Given the description of an element on the screen output the (x, y) to click on. 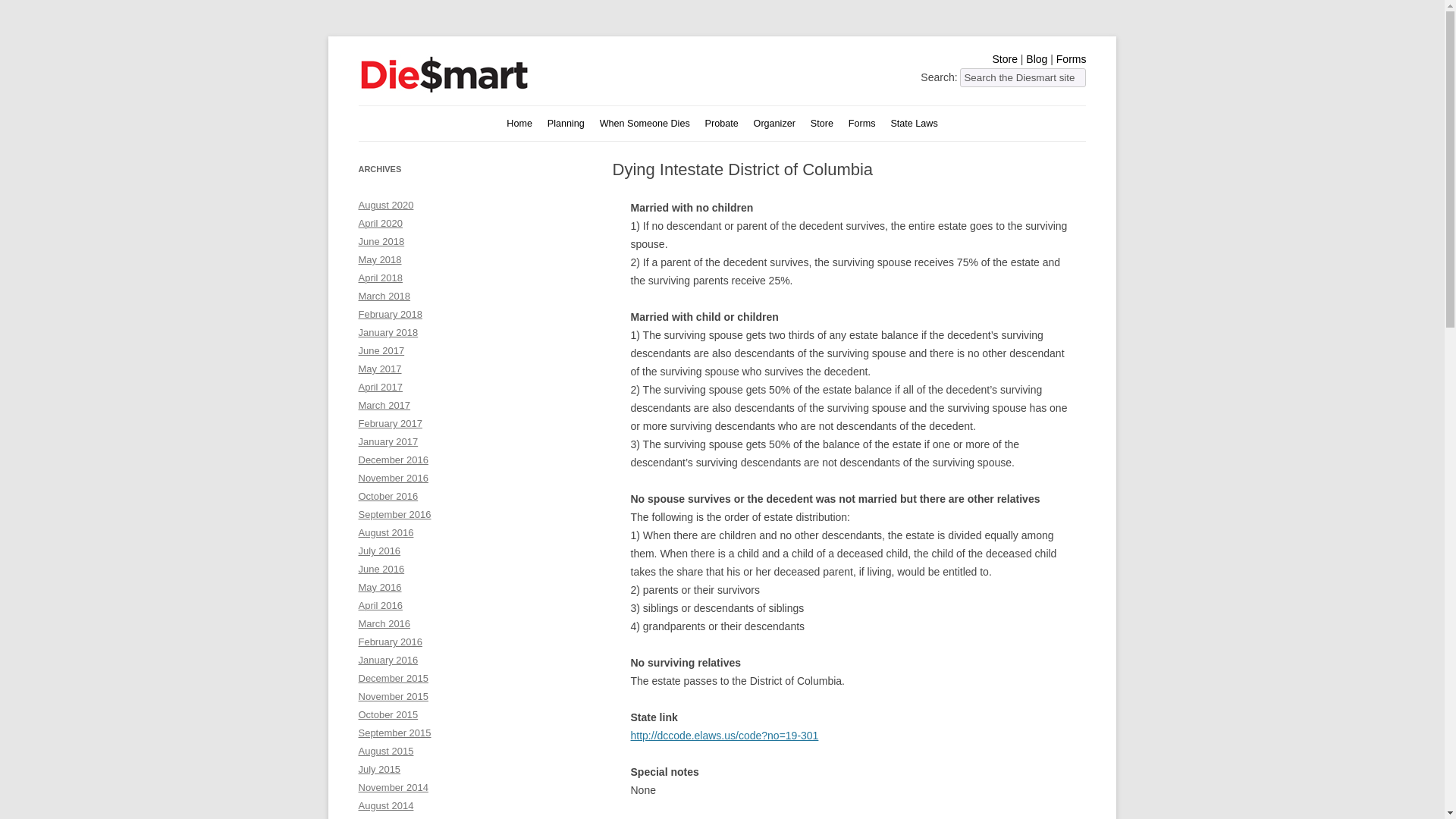
June 2018 (381, 241)
February 2018 (390, 314)
June 2017 (381, 350)
Organizer (774, 123)
State Laws (913, 123)
Blog (1036, 59)
Store (1003, 59)
January 2017 (387, 441)
May 2018 (379, 259)
